Given the description of an element on the screen output the (x, y) to click on. 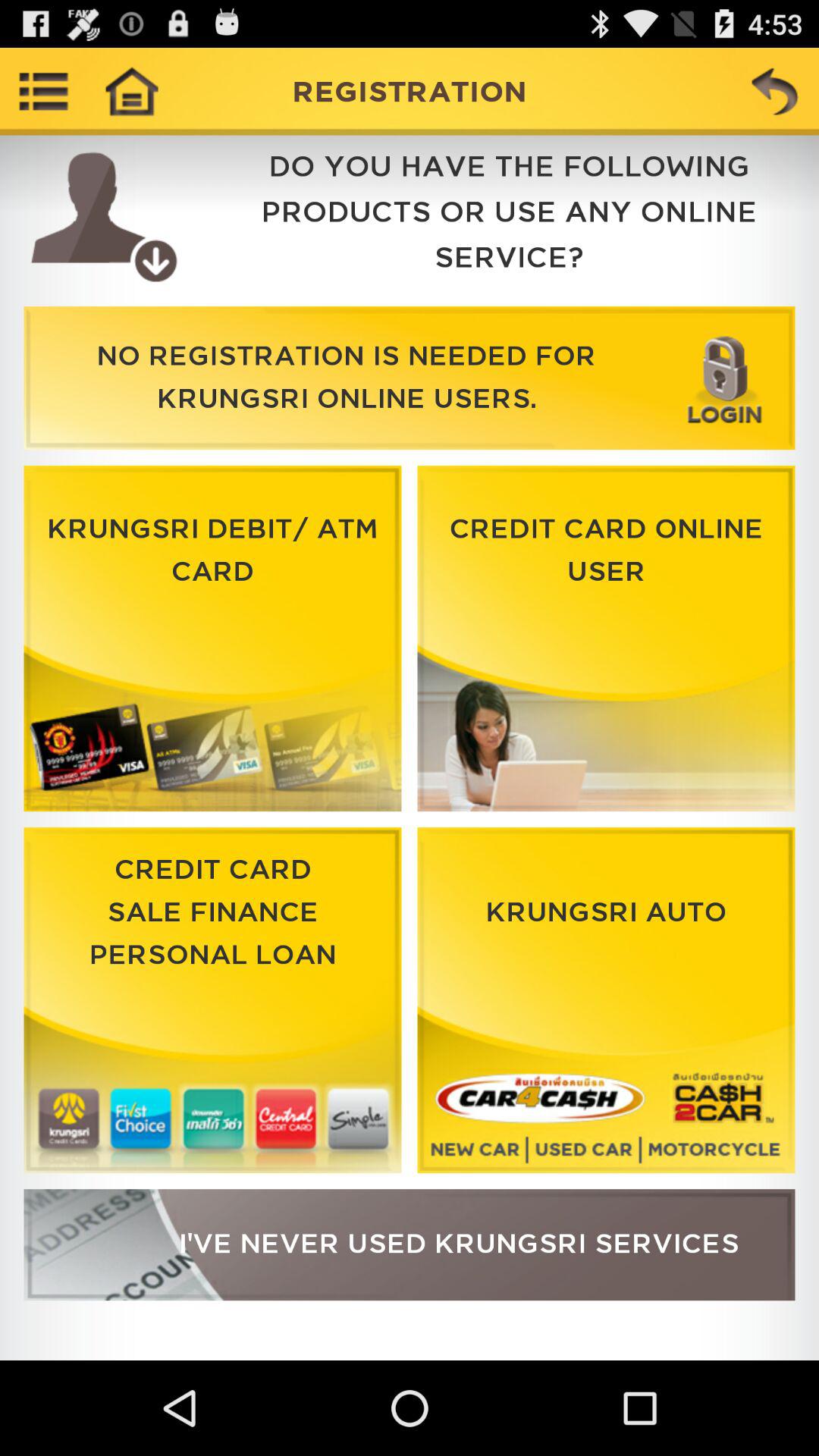
select credit card (212, 1000)
